Given the description of an element on the screen output the (x, y) to click on. 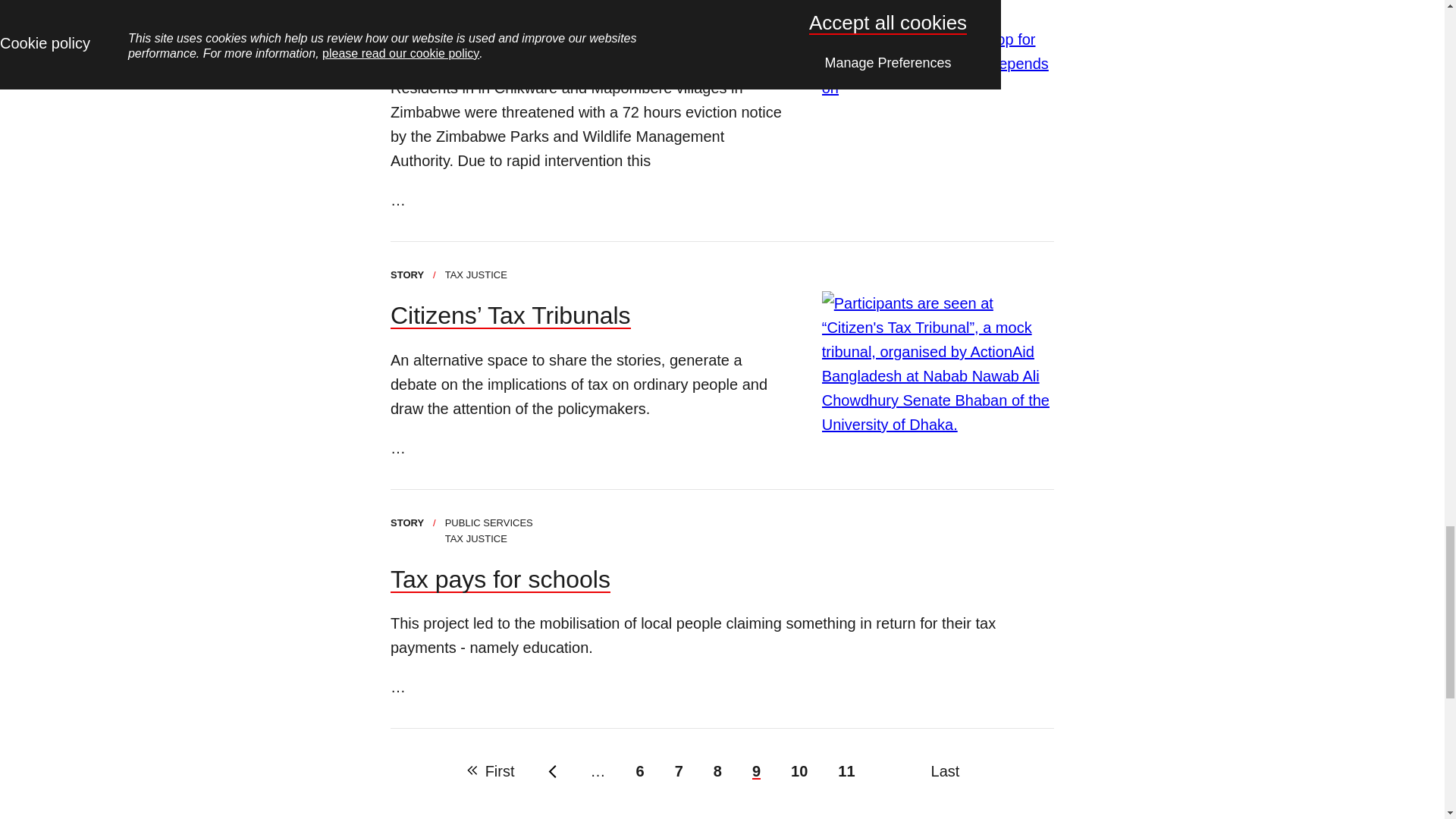
Go to first page (491, 770)
